Given the description of an element on the screen output the (x, y) to click on. 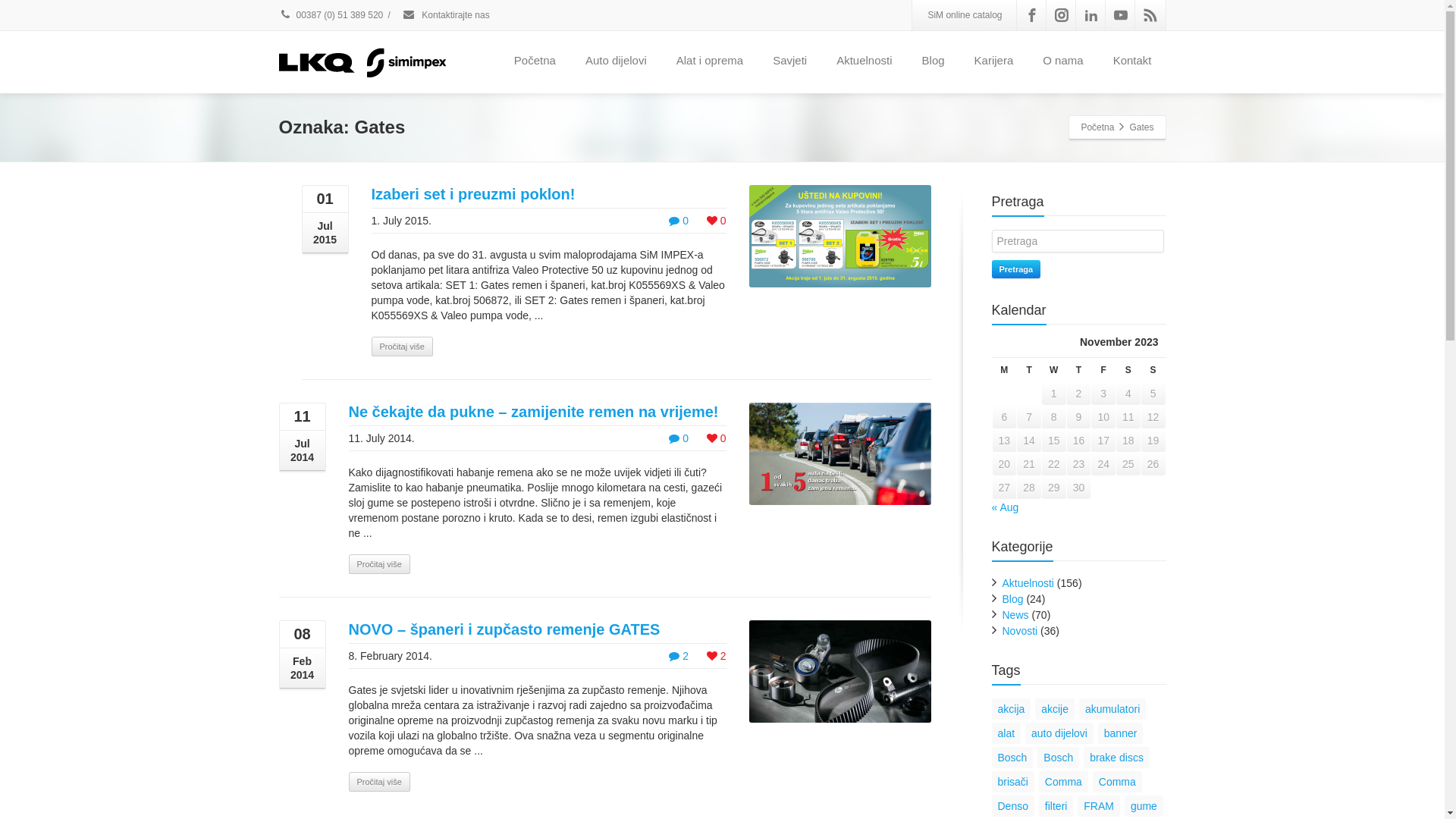
Auto dijelovi Element type: text (616, 61)
akcije Element type: text (1054, 708)
Karijera Element type: text (994, 61)
0 Element type: text (678, 220)
Youtube Element type: hover (1120, 15)
Izaberi set i preuzmi poklon! Element type: text (473, 193)
News Element type: text (1015, 614)
Kontaktirajte nas Element type: text (445, 14)
Blog Element type: text (1012, 599)
Comma Element type: text (1117, 781)
2 Element type: text (678, 655)
Bosch Element type: text (1012, 757)
Bosch Element type: text (1058, 757)
0 Element type: text (716, 438)
filteri Element type: text (1055, 805)
SiM online catalog Element type: text (964, 15)
O nama Element type: text (1062, 61)
Facebook Element type: hover (1031, 15)
gume Element type: text (1143, 805)
Blog Element type: text (933, 61)
brake discs Element type: text (1116, 757)
Aktuelnosti Element type: text (1028, 583)
0 Element type: text (716, 220)
Aktuelnosti Element type: text (864, 61)
2 Element type: text (716, 655)
Denso Element type: text (1012, 805)
akumulatori Element type: text (1112, 708)
Savjeti Element type: text (789, 61)
Pretraga Element type: text (1016, 269)
Novosti Element type: text (1020, 630)
0 Element type: text (678, 438)
alat Element type: text (1006, 732)
auto dijelovi Element type: text (1059, 732)
Rss Element type: hover (1149, 15)
banner Element type: text (1120, 732)
00387 (0) 51 389 520 Element type: text (331, 14)
Kontakt Element type: text (1132, 61)
FRAM Element type: text (1098, 805)
akcija Element type: text (1011, 708)
Instagram Element type: hover (1061, 15)
Alat i oprema Element type: text (709, 61)
Comma Element type: text (1063, 781)
Linkedin Element type: hover (1090, 15)
